Given the description of an element on the screen output the (x, y) to click on. 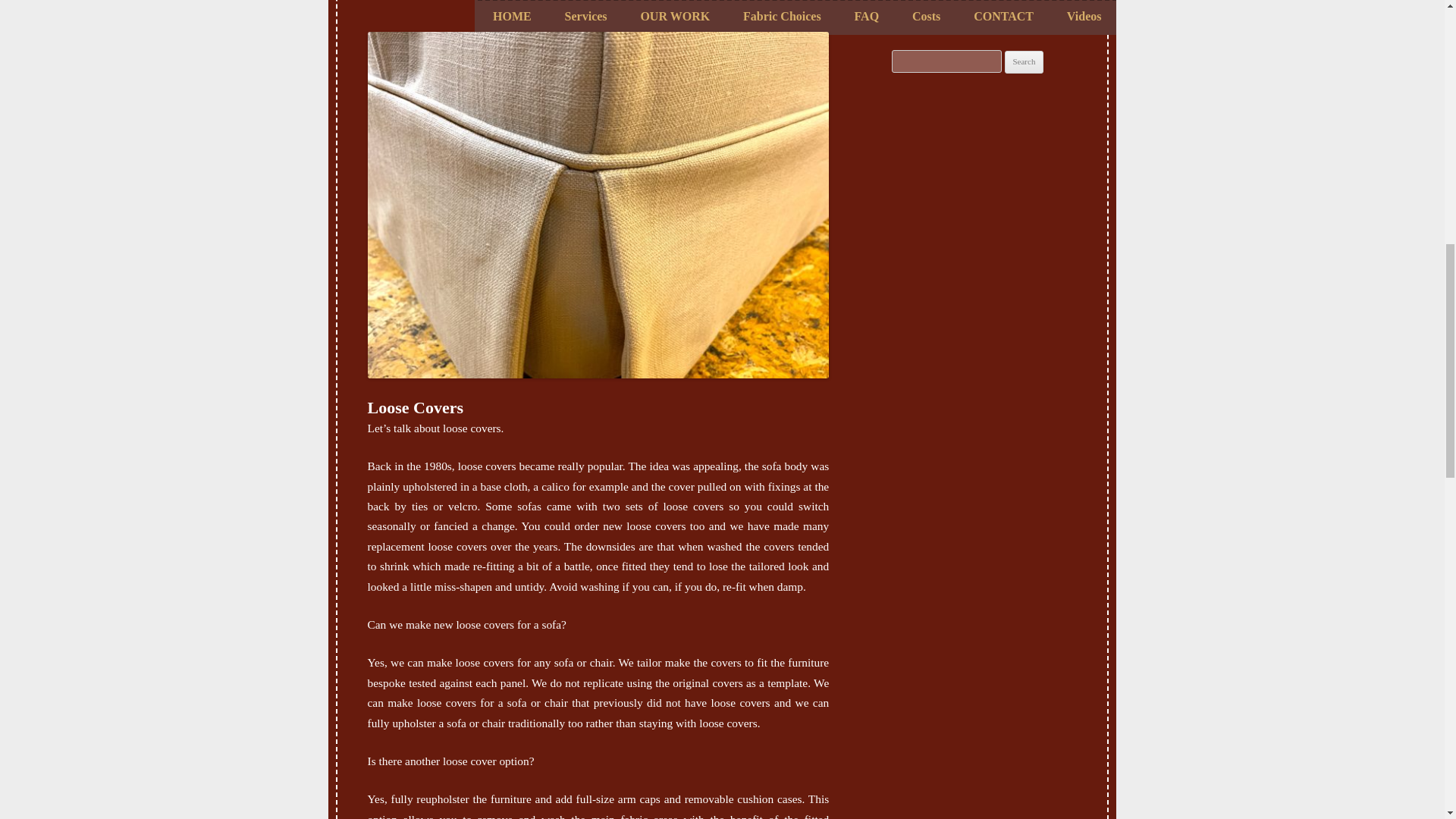
Services (585, 15)
Fabric Choices (781, 15)
CONTACT (1003, 15)
See Fabric Choices (781, 15)
HOME (512, 15)
Search (1023, 61)
Contact BJ Upholstery (1003, 15)
Search (1023, 61)
OUR WORK (675, 15)
Videos (1084, 15)
